Given the description of an element on the screen output the (x, y) to click on. 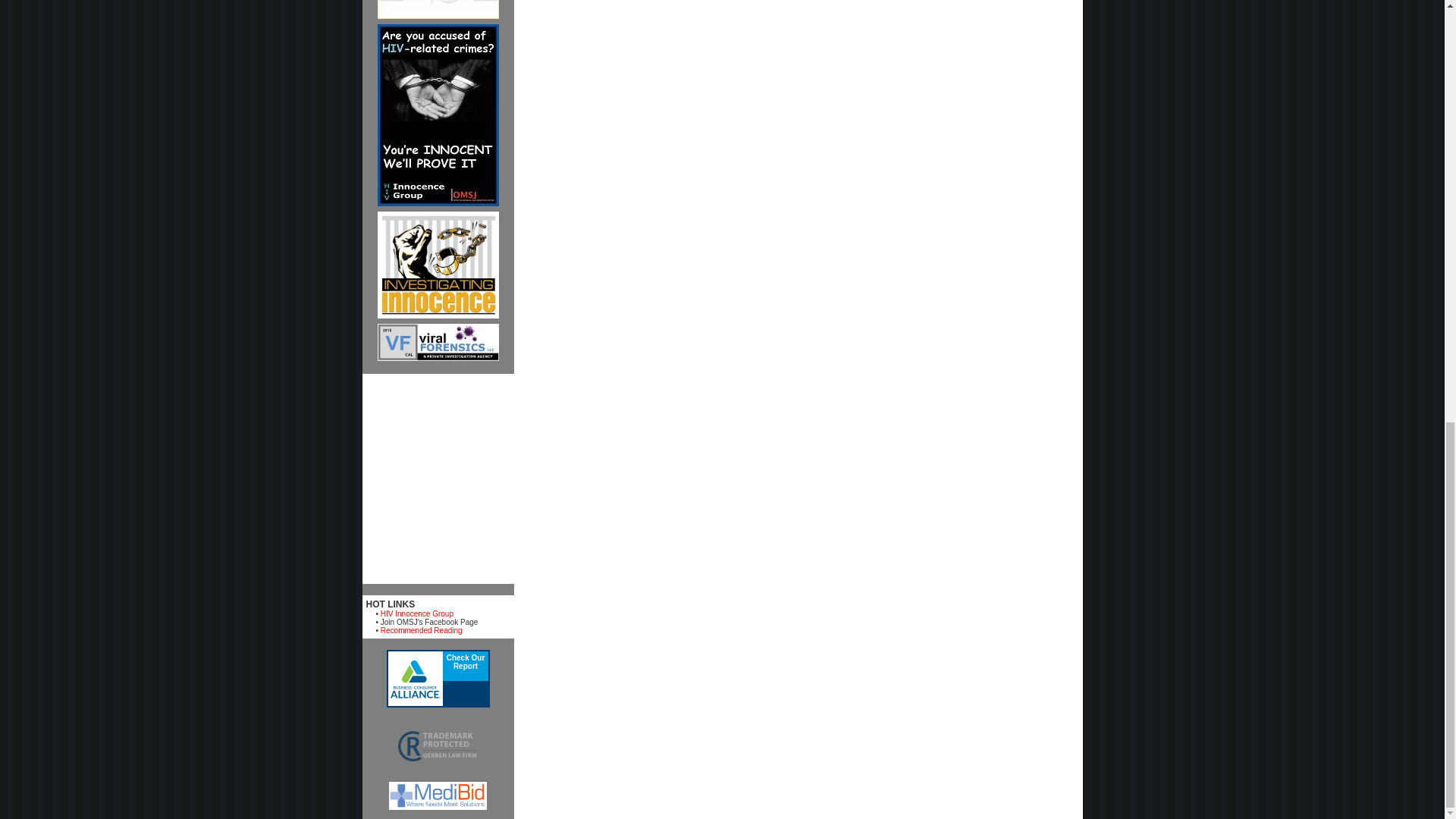
HIV Innocence Group (416, 613)
Recommended Reading (421, 630)
